Given the description of an element on the screen output the (x, y) to click on. 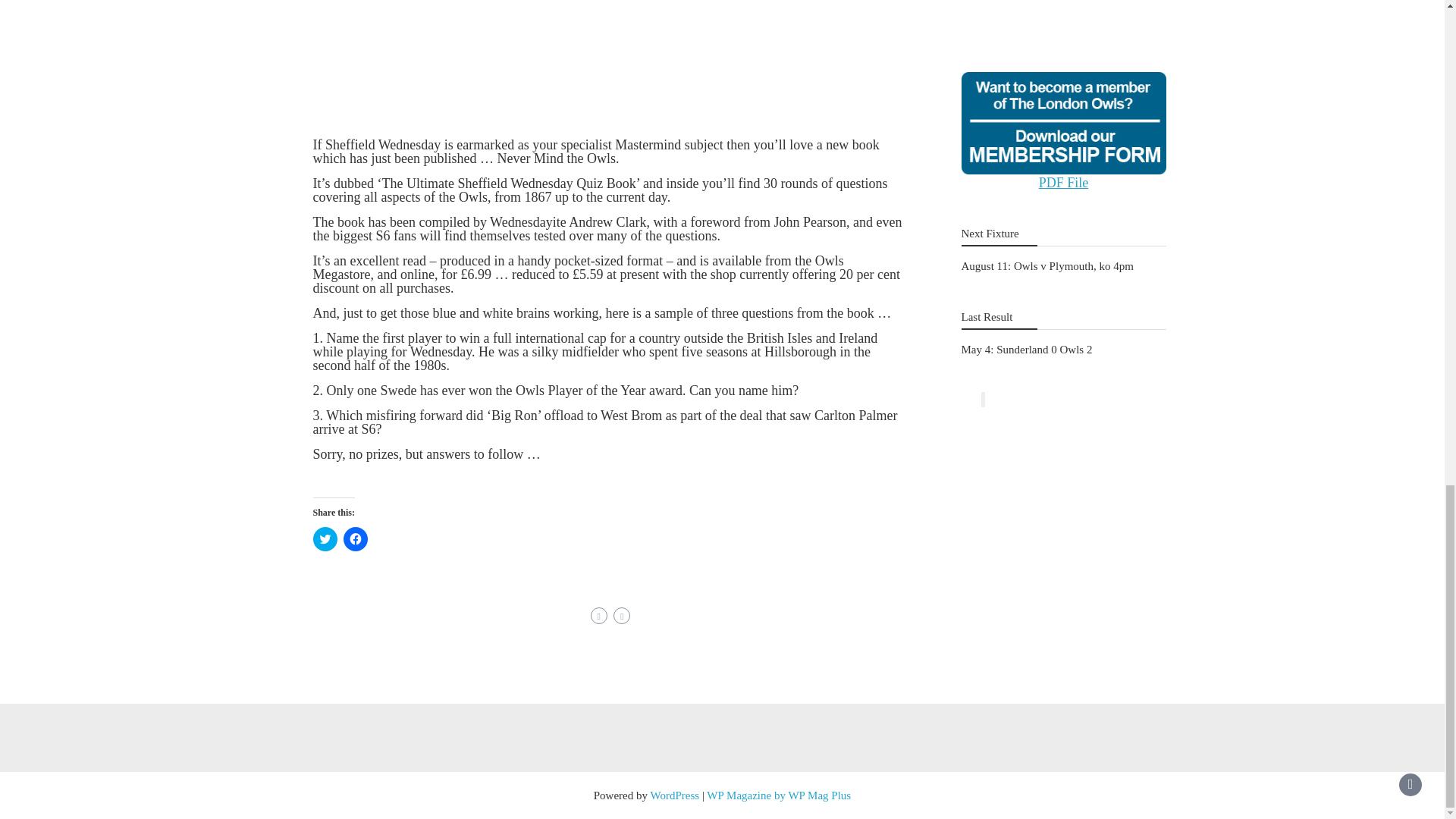
Click to share on Twitter (324, 539)
Click to share on Facebook (354, 539)
WP Magazine by WP Mag Plus (778, 795)
WordPress (675, 795)
